Given the description of an element on the screen output the (x, y) to click on. 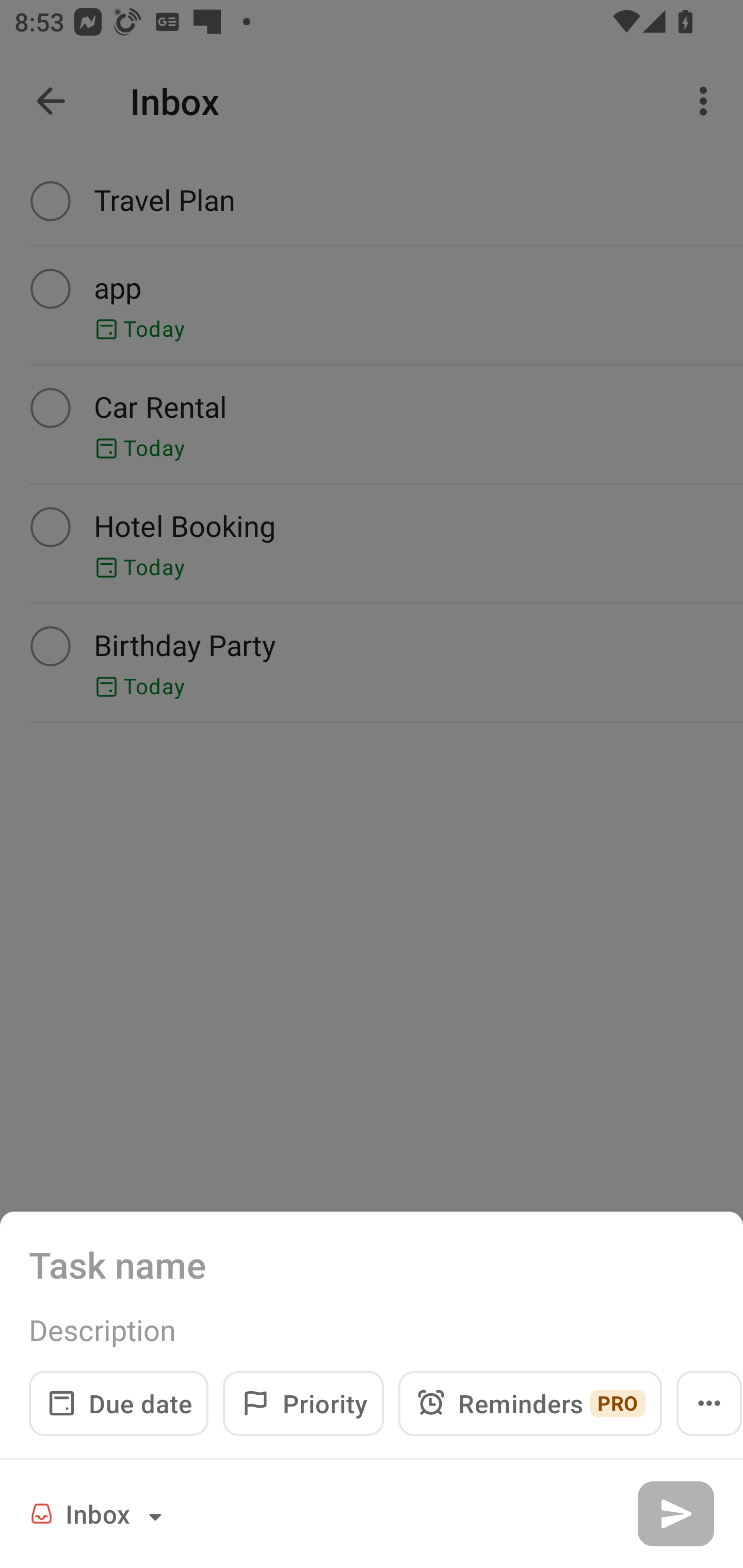
Task name (371, 1264)
Description (371, 1330)
Due date Date (118, 1403)
Priority (303, 1403)
Reminders PRO Reminders (530, 1403)
Open menu (709, 1403)
Inbox Project (99, 1513)
Add (675, 1513)
